Given the description of an element on the screen output the (x, y) to click on. 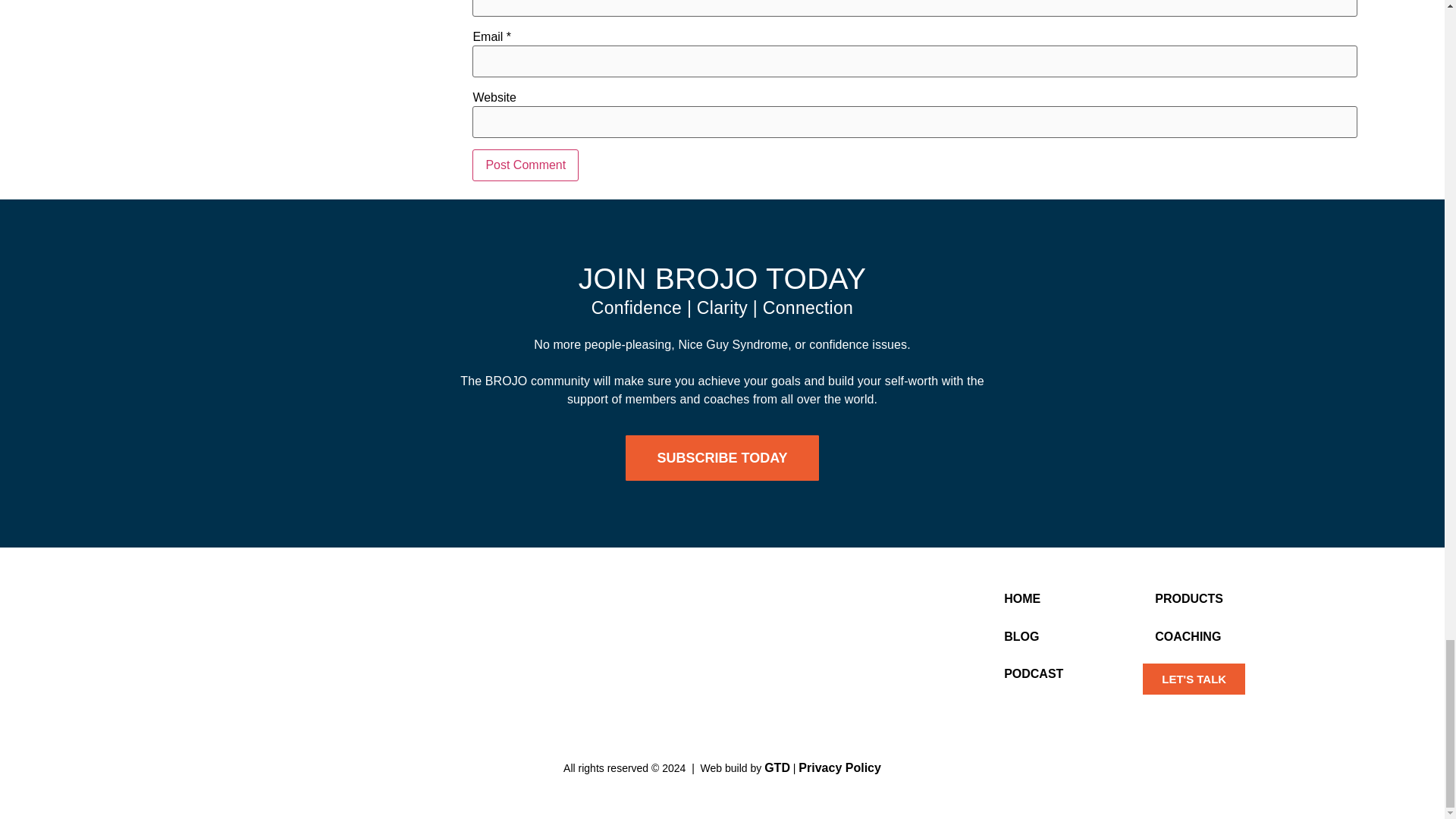
Post Comment (524, 164)
